Given the description of an element on the screen output the (x, y) to click on. 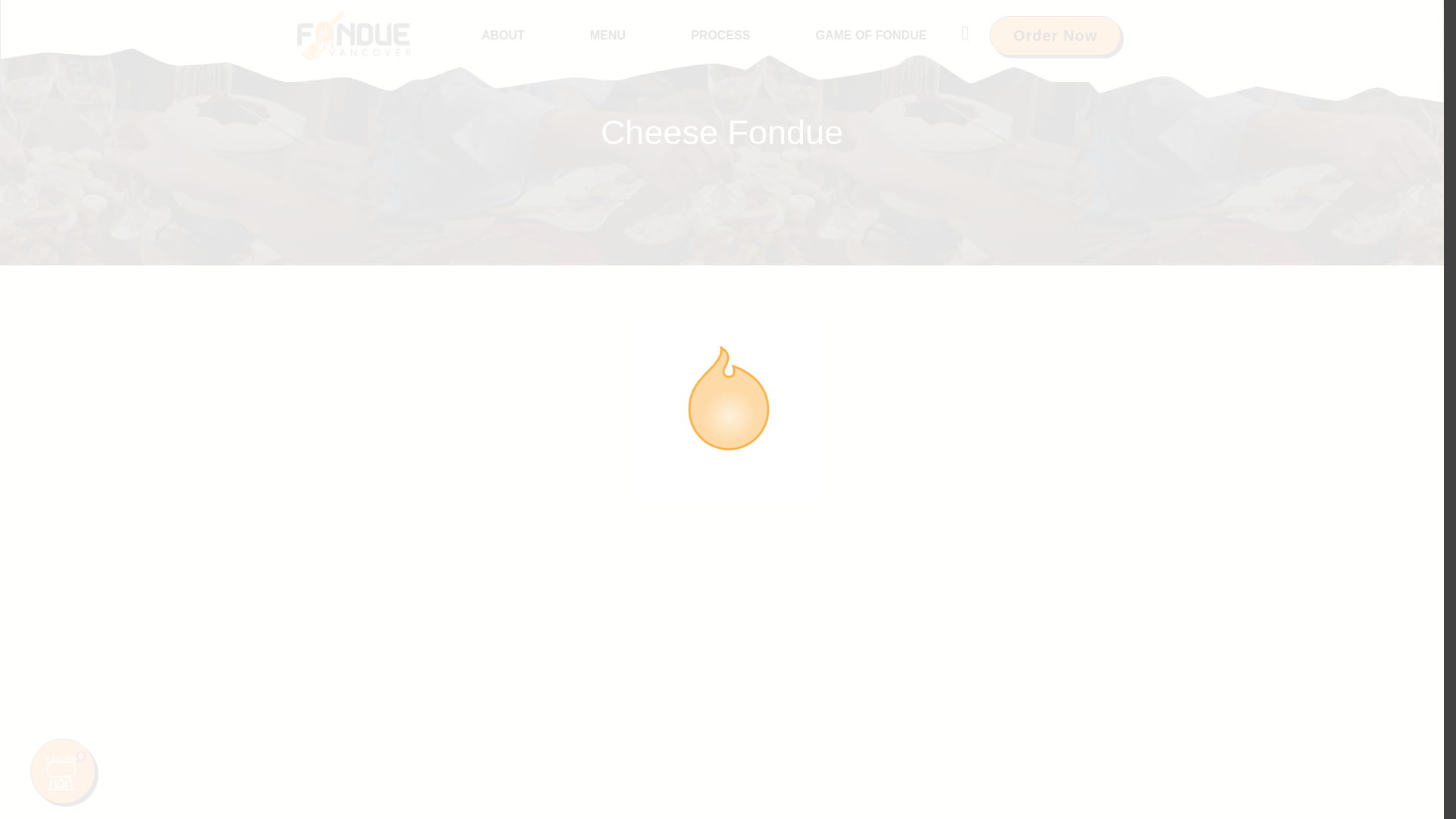
Order Now (1055, 35)
ABOUT (502, 35)
PROCESS (719, 35)
0 (63, 770)
MENU (607, 35)
GAME OF FONDUE (871, 35)
